Given the description of an element on the screen output the (x, y) to click on. 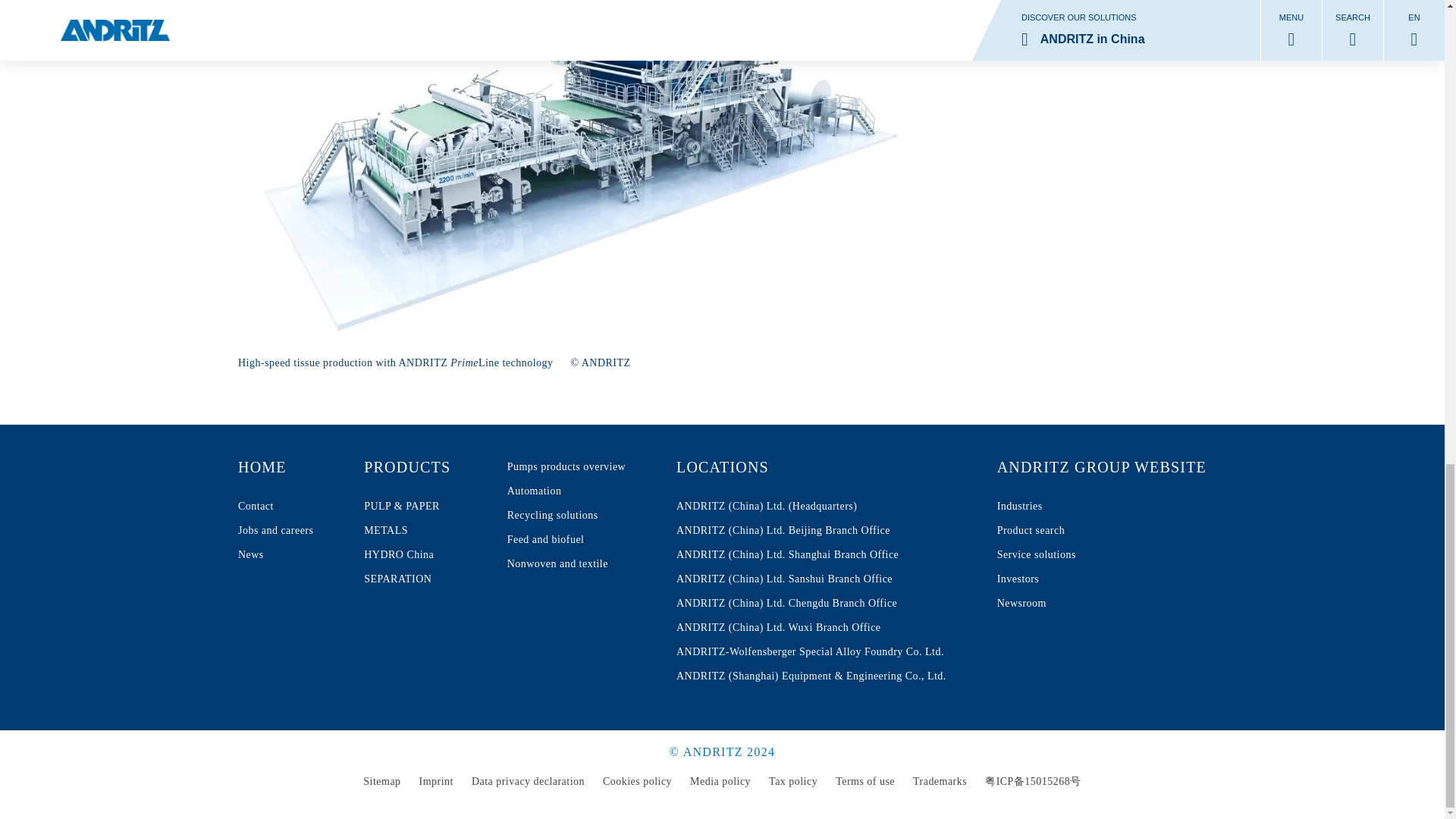
Automation (566, 491)
cn-news-picture20210610-high-speed-tissue (275, 506)
SEPARATION (275, 554)
Contact (422, 579)
HOME (422, 467)
Jobs and careers (275, 506)
Pumps products overview (275, 467)
PRODUCTS (422, 530)
